Given the description of an element on the screen output the (x, y) to click on. 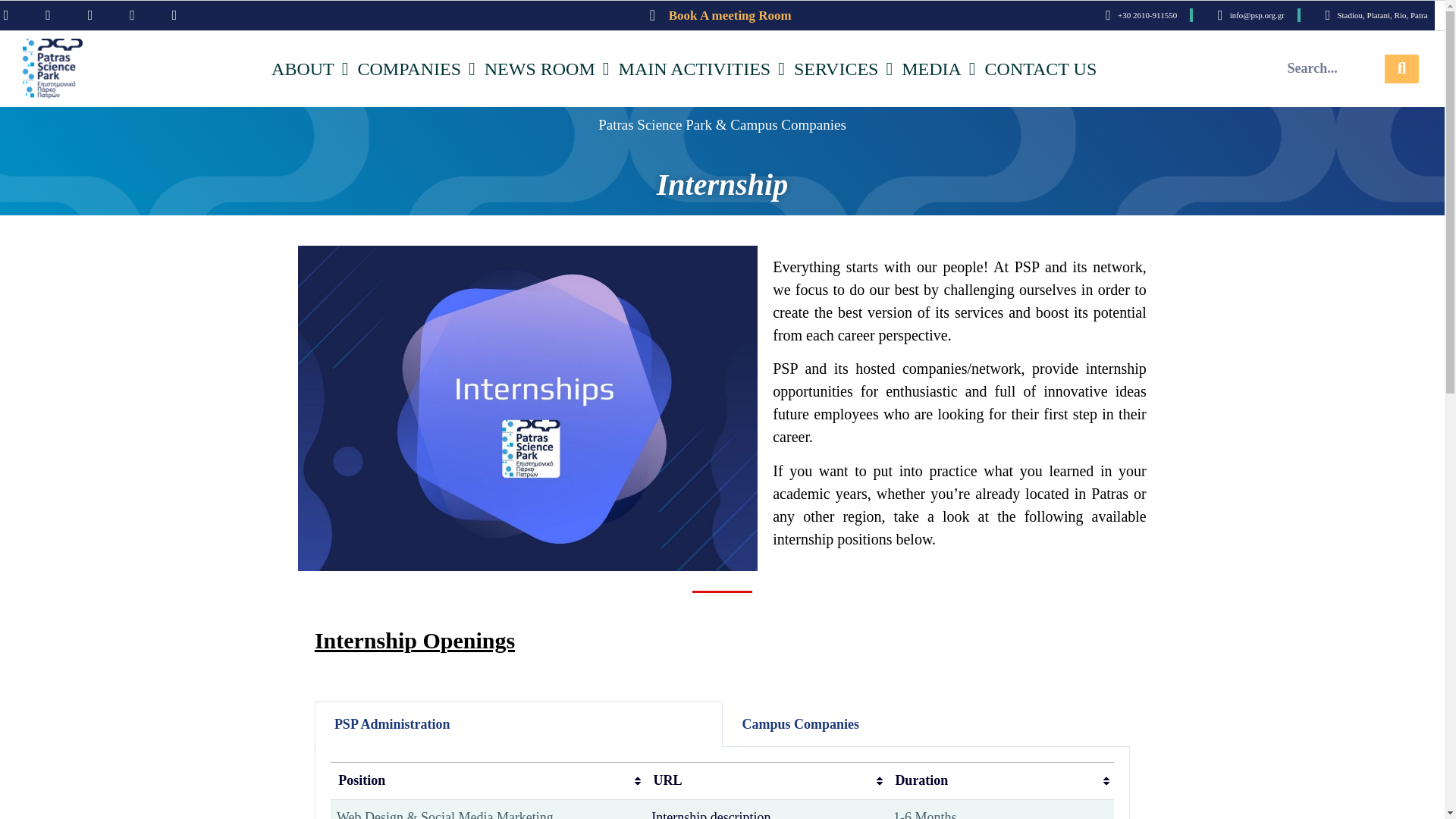
Search (1331, 68)
Search (1401, 68)
